Given the description of an element on the screen output the (x, y) to click on. 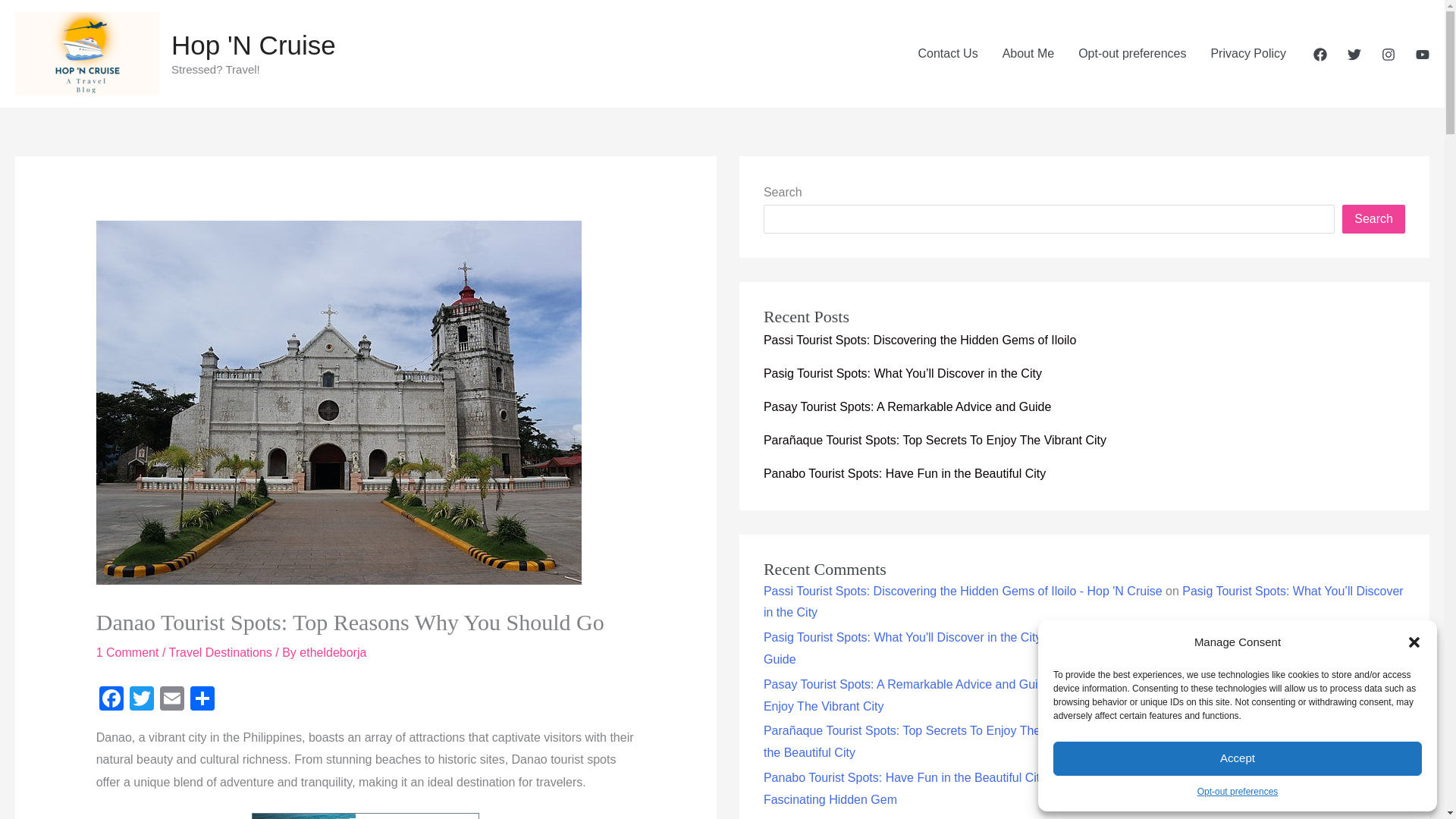
View all posts by etheldeborja (332, 652)
Hop 'N Cruise (253, 44)
Email (172, 700)
1 Comment (127, 652)
About Me (1027, 53)
Facebook (111, 700)
Opt-out preferences (1237, 791)
Travel Destinations (219, 652)
Twitter (141, 700)
Accept (1237, 758)
Facebook (111, 700)
Opt-out preferences (1131, 53)
Privacy Policy (1248, 53)
Twitter (141, 700)
Contact Us (947, 53)
